Given the description of an element on the screen output the (x, y) to click on. 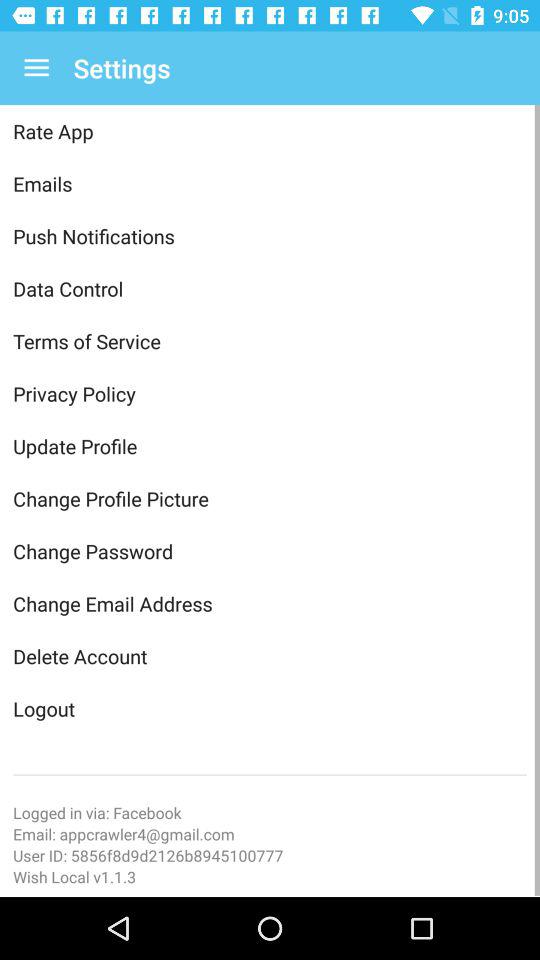
choose the item above change password icon (269, 498)
